Given the description of an element on the screen output the (x, y) to click on. 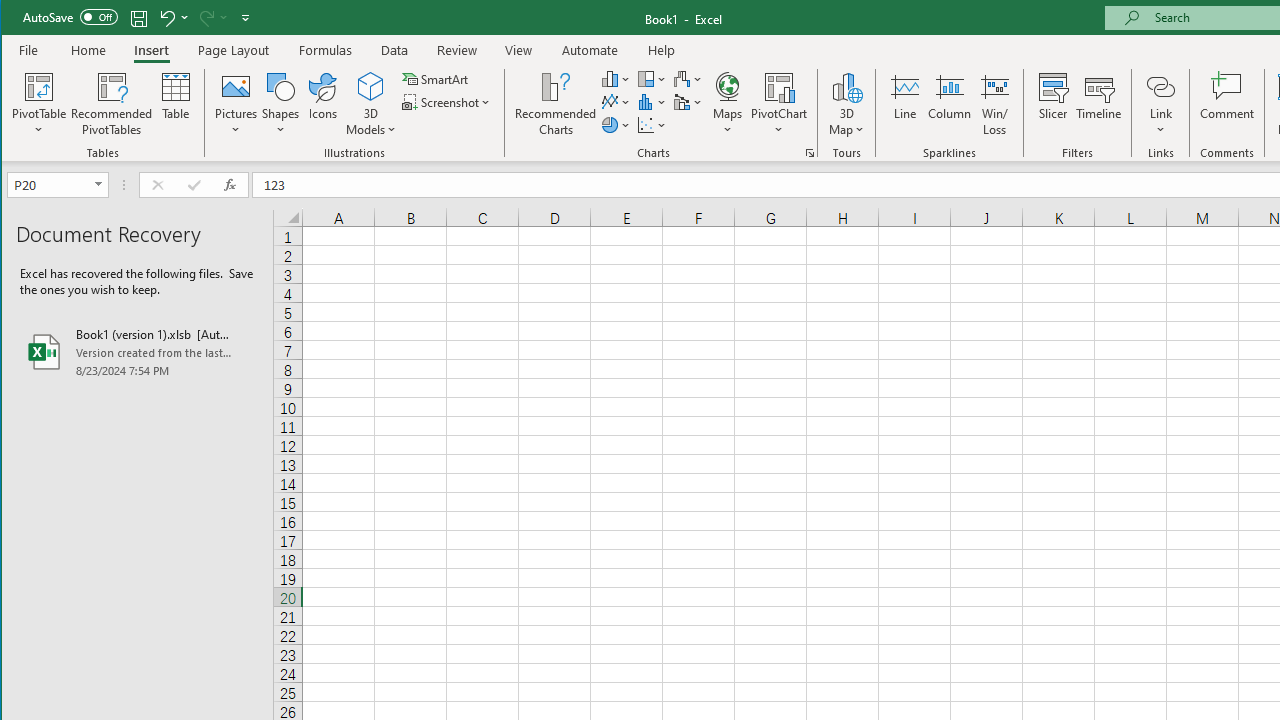
Insert Combo Chart (688, 101)
PivotChart (779, 104)
3D Models (371, 86)
Link (1160, 86)
Link (1160, 104)
3D Map (846, 104)
SmartArt... (436, 78)
AutoSave (70, 16)
